Given the description of an element on the screen output the (x, y) to click on. 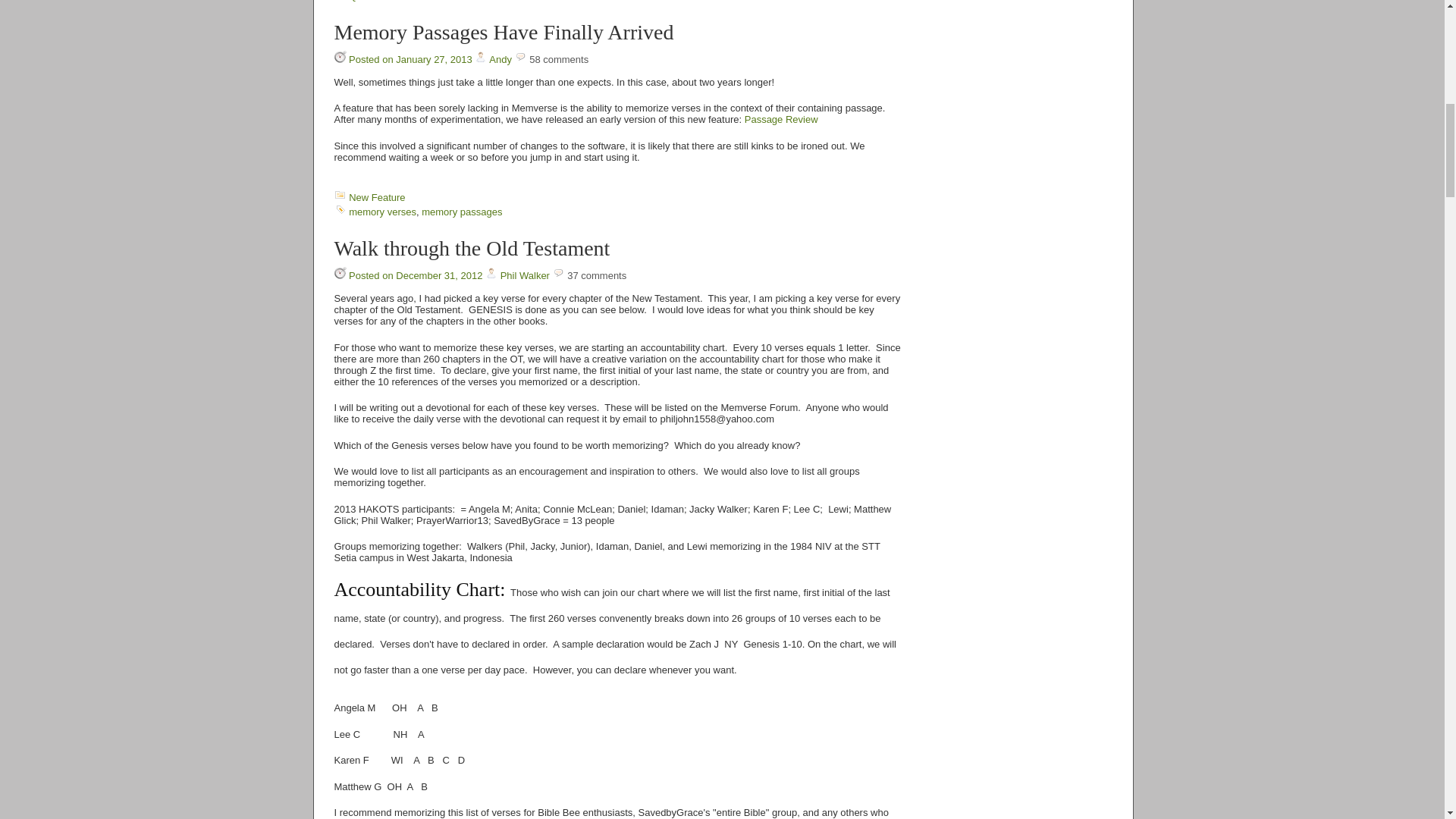
Memory Passages Have Finally Arrived (502, 32)
Quizzes (366, 0)
